Given the description of an element on the screen output the (x, y) to click on. 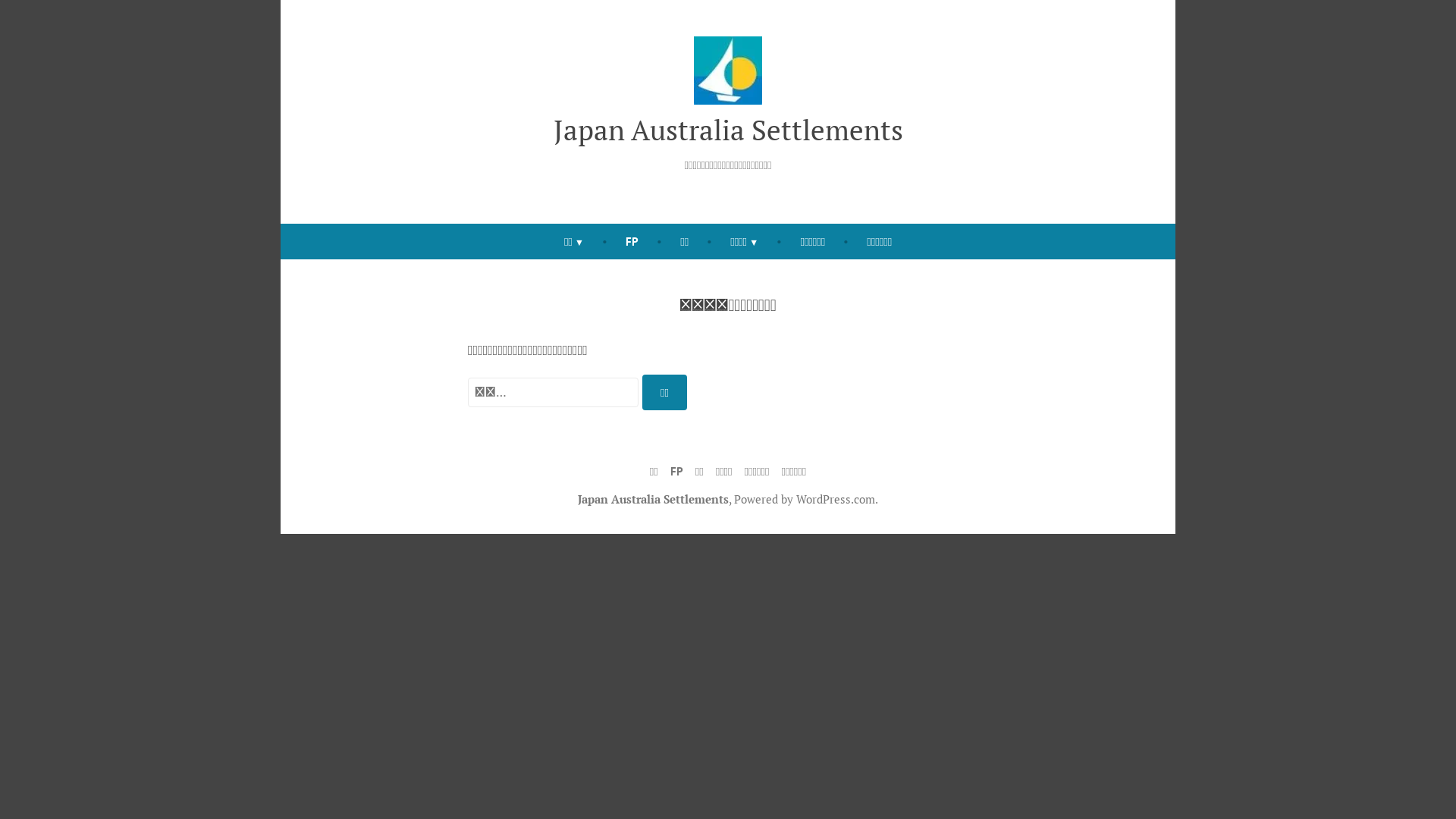
Japan Australia Settlements Element type: text (652, 498)
Japan Australia Settlements Element type: text (728, 129)
Powered by WordPress.com Element type: text (804, 498)
FP Element type: text (631, 241)
FP Element type: text (676, 471)
